Given the description of an element on the screen output the (x, y) to click on. 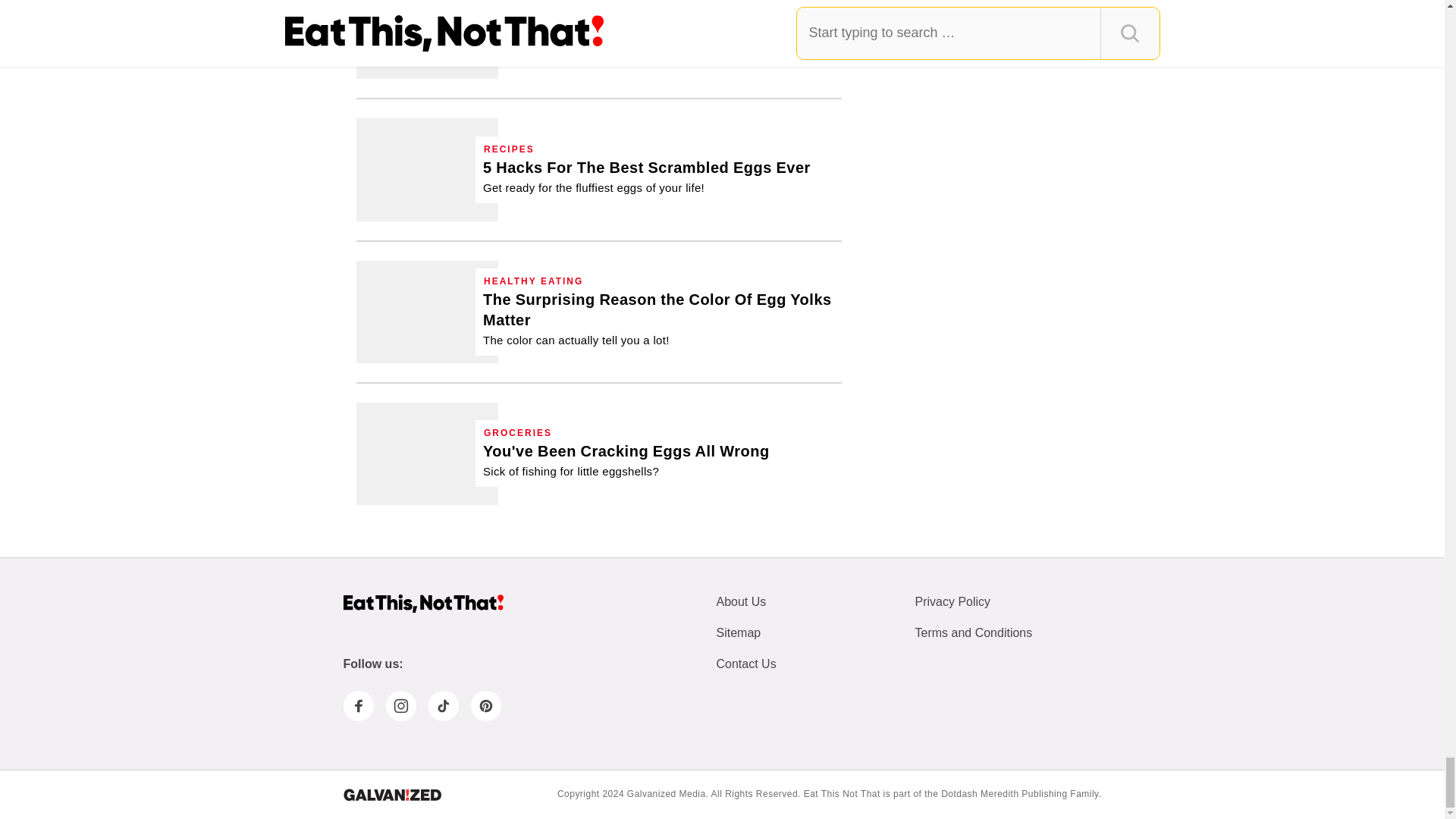
5 Hacks For The Best Scrambled Eggs Ever (426, 168)
5 Hacks For The Best Scrambled Eggs Ever (646, 176)
15 Egg Hacks You Haven't Heard Before (630, 34)
15 Egg Hacks You Haven't Heard Before (426, 39)
